Given the description of an element on the screen output the (x, y) to click on. 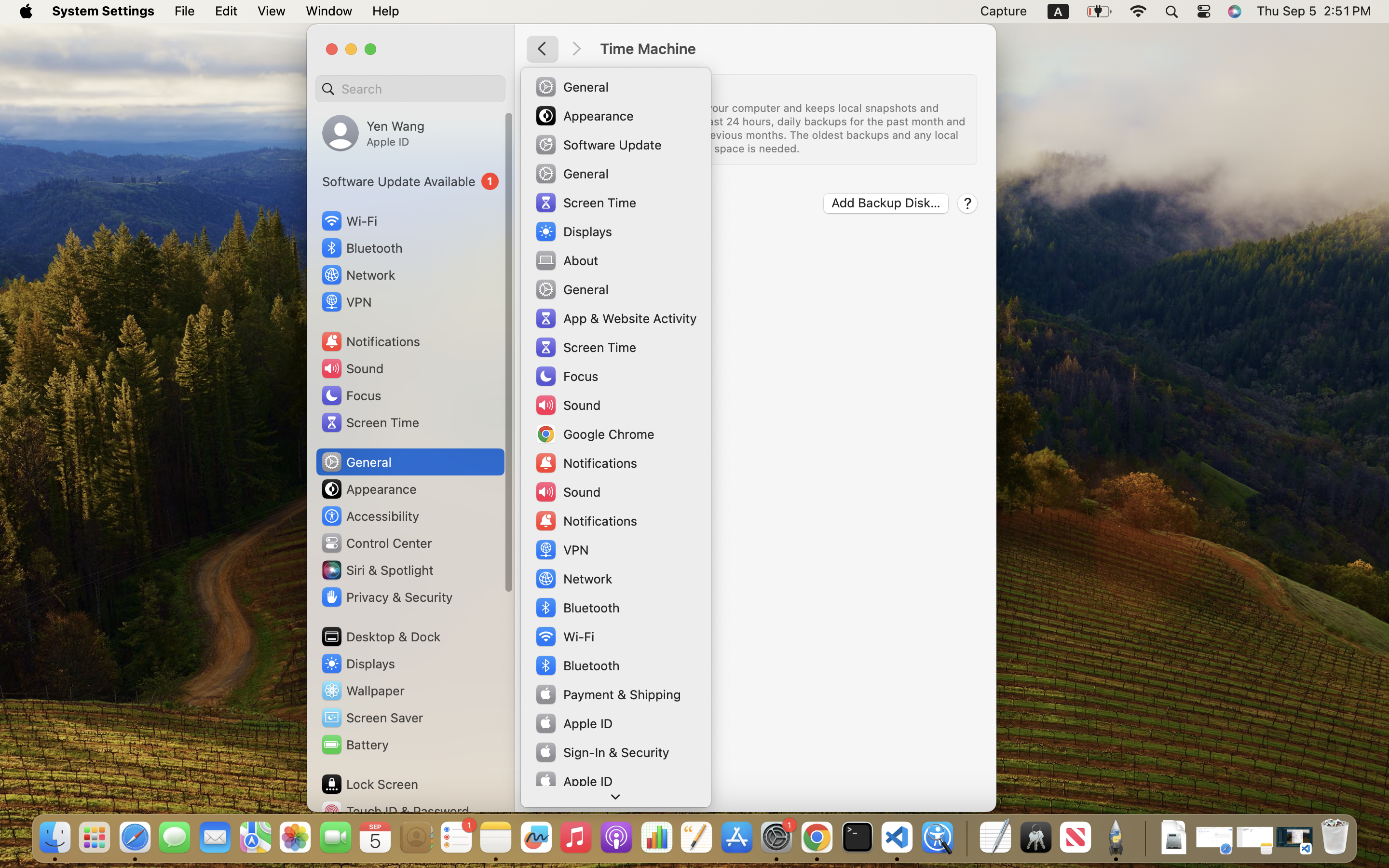
Accessibility Element type: AXStaticText (369, 515)
Desktop & Dock Element type: AXStaticText (380, 636)
Control Center Element type: AXStaticText (376, 542)
Siri & Spotlight Element type: AXStaticText (376, 569)
Privacy & Security Element type: AXStaticText (386, 596)
